Given the description of an element on the screen output the (x, y) to click on. 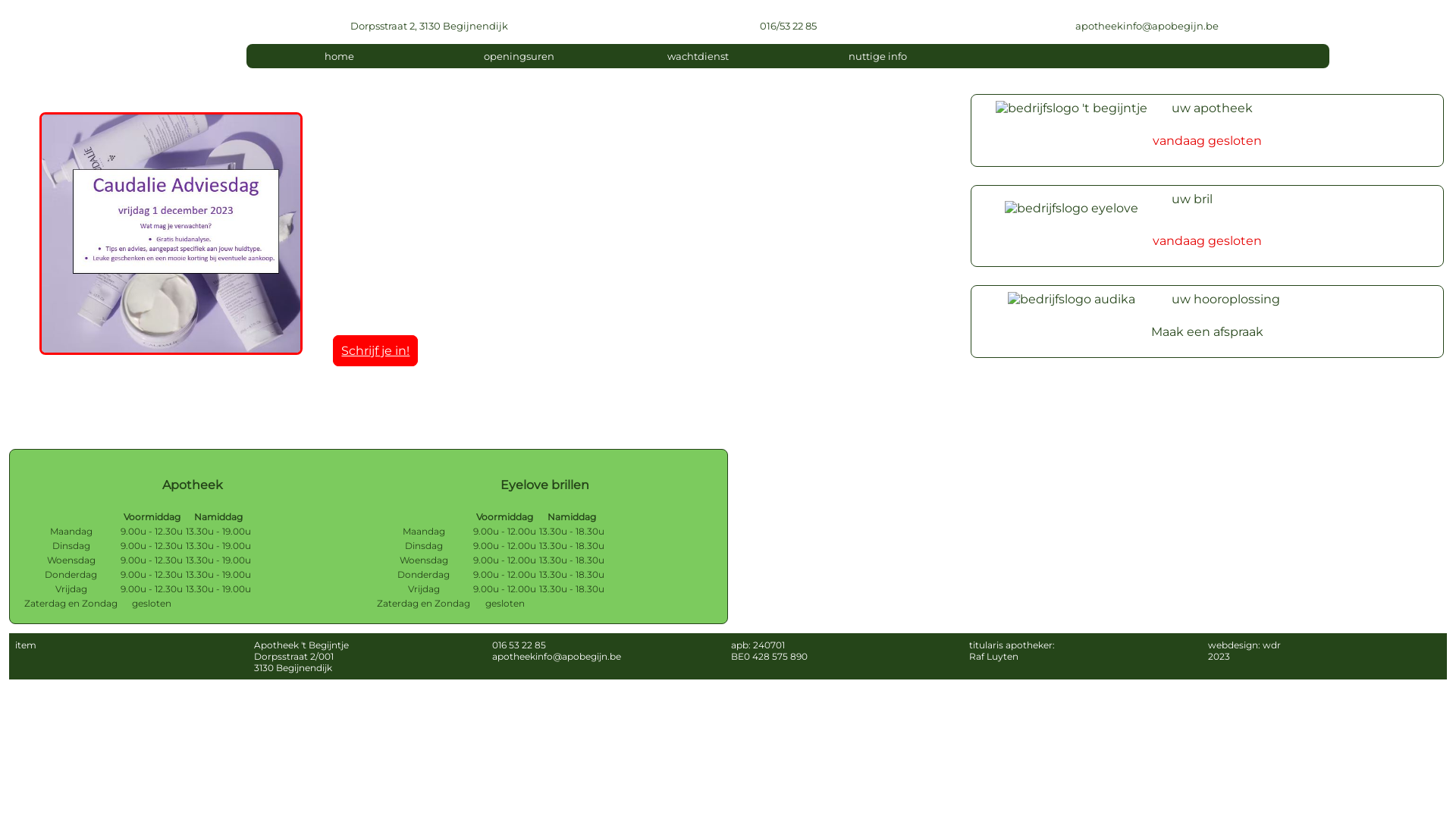
nuttige info Element type: text (877, 56)
wachtdienst Element type: text (697, 56)
home Element type: text (339, 56)
openingsuren Element type: text (518, 56)
Schrijf je in! Element type: text (374, 350)
